Given the description of an element on the screen output the (x, y) to click on. 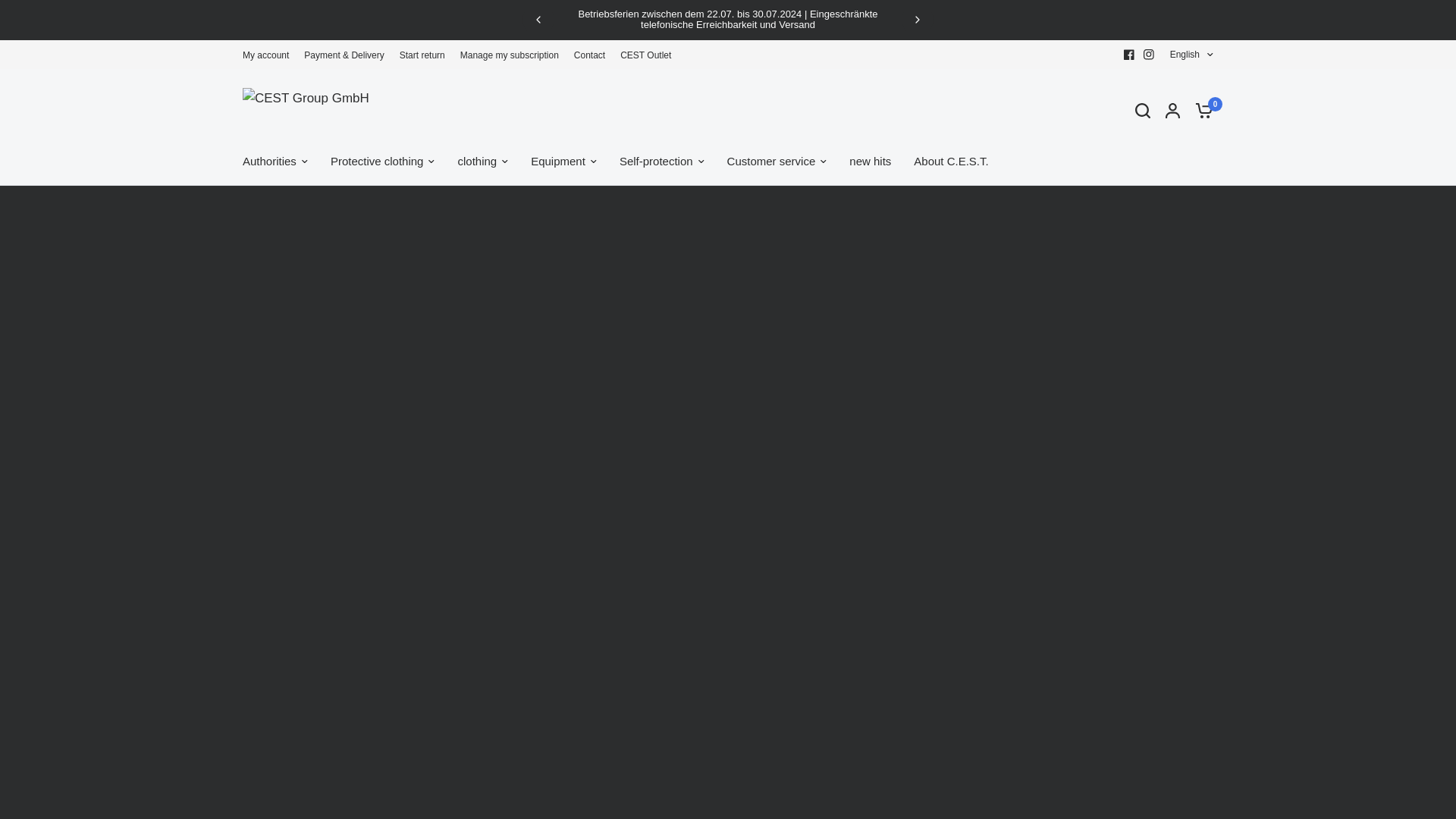
English (1191, 54)
Contact (589, 55)
CEST Outlet (645, 55)
Facebook (1128, 53)
Contact (589, 55)
Manage my subscription (509, 55)
CEST Outlet (645, 55)
Instagram (1148, 53)
Start return (421, 55)
Manage my subscription (509, 55)
Start return (421, 55)
My account (265, 55)
My account (265, 55)
